Given the description of an element on the screen output the (x, y) to click on. 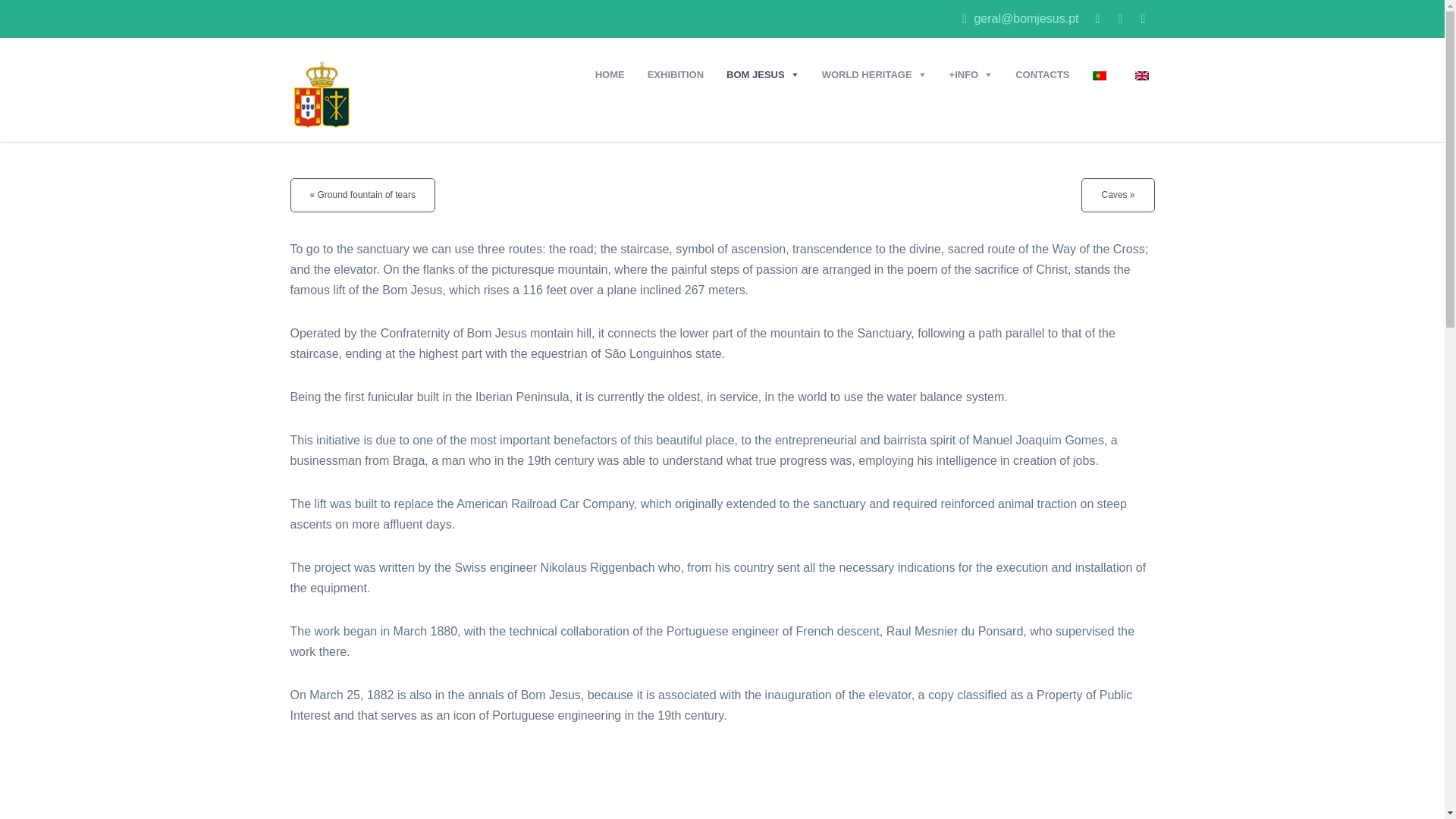
CONTACTS (1042, 74)
HOME (609, 74)
email (1020, 18)
BOM JESUS (762, 74)
Confraria do Bom Jesus do Monte (382, 92)
EXHIBITION (675, 74)
WORLD HERITAGE (873, 74)
